Given the description of an element on the screen output the (x, y) to click on. 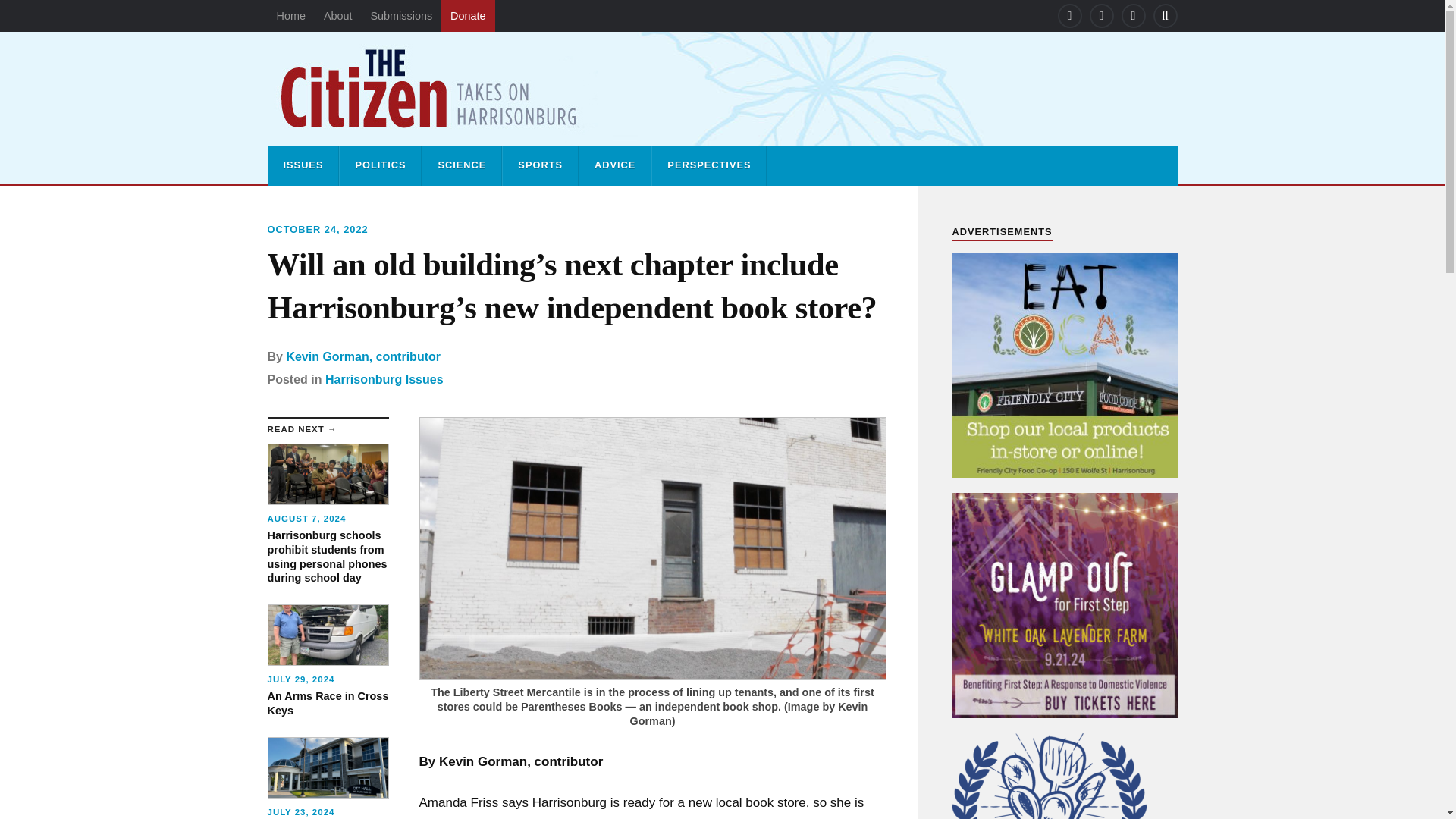
ADVICE (614, 165)
Submissions (401, 15)
Kevin Gorman, contributor (363, 356)
SPORTS (540, 165)
SCIENCE (461, 165)
ISSUES (303, 165)
POLITICS (379, 165)
Home (290, 15)
About (337, 15)
OCTOBER 24, 2022 (317, 229)
